Given the description of an element on the screen output the (x, y) to click on. 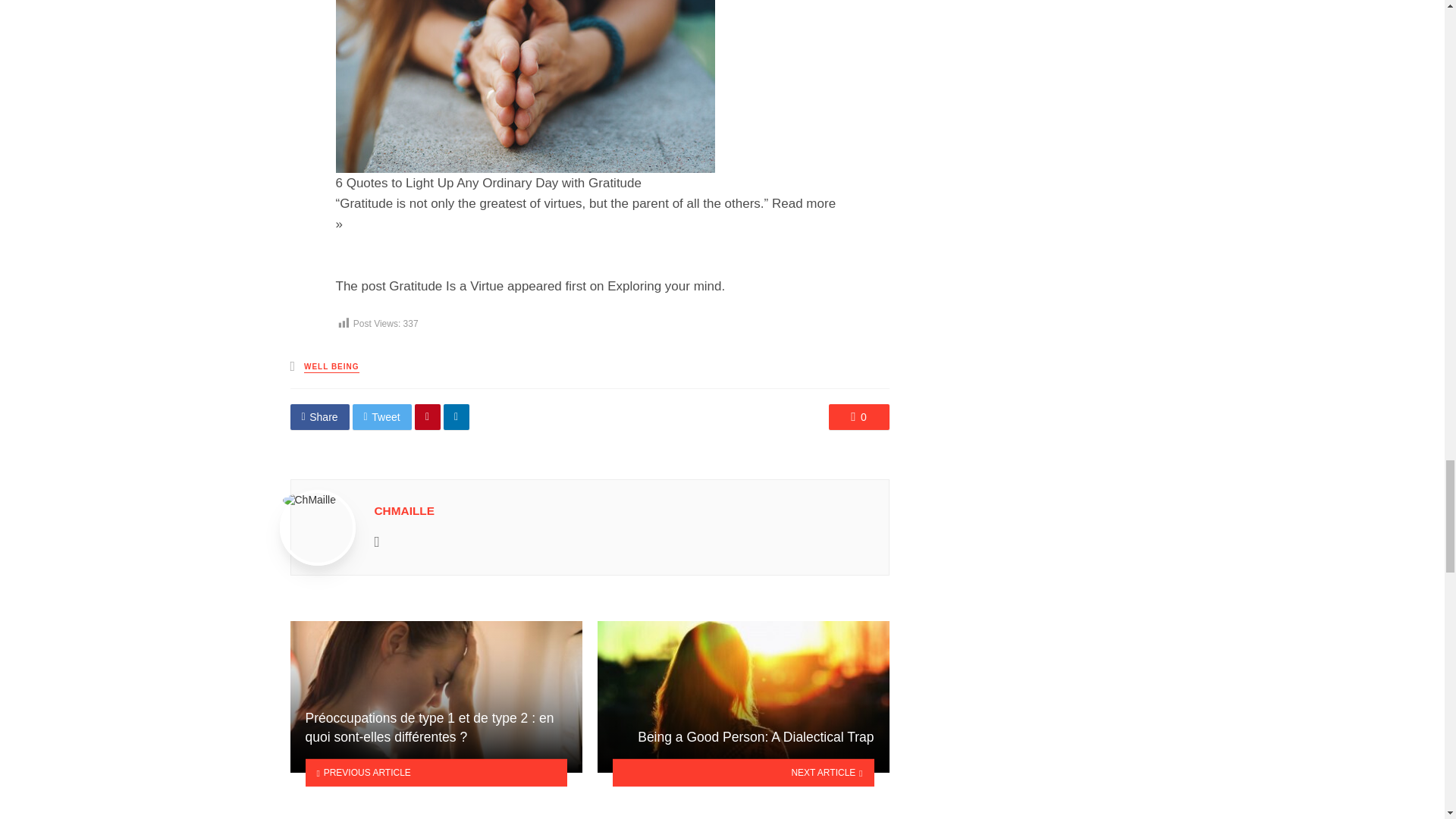
Posts by ChMaille (404, 510)
